Given the description of an element on the screen output the (x, y) to click on. 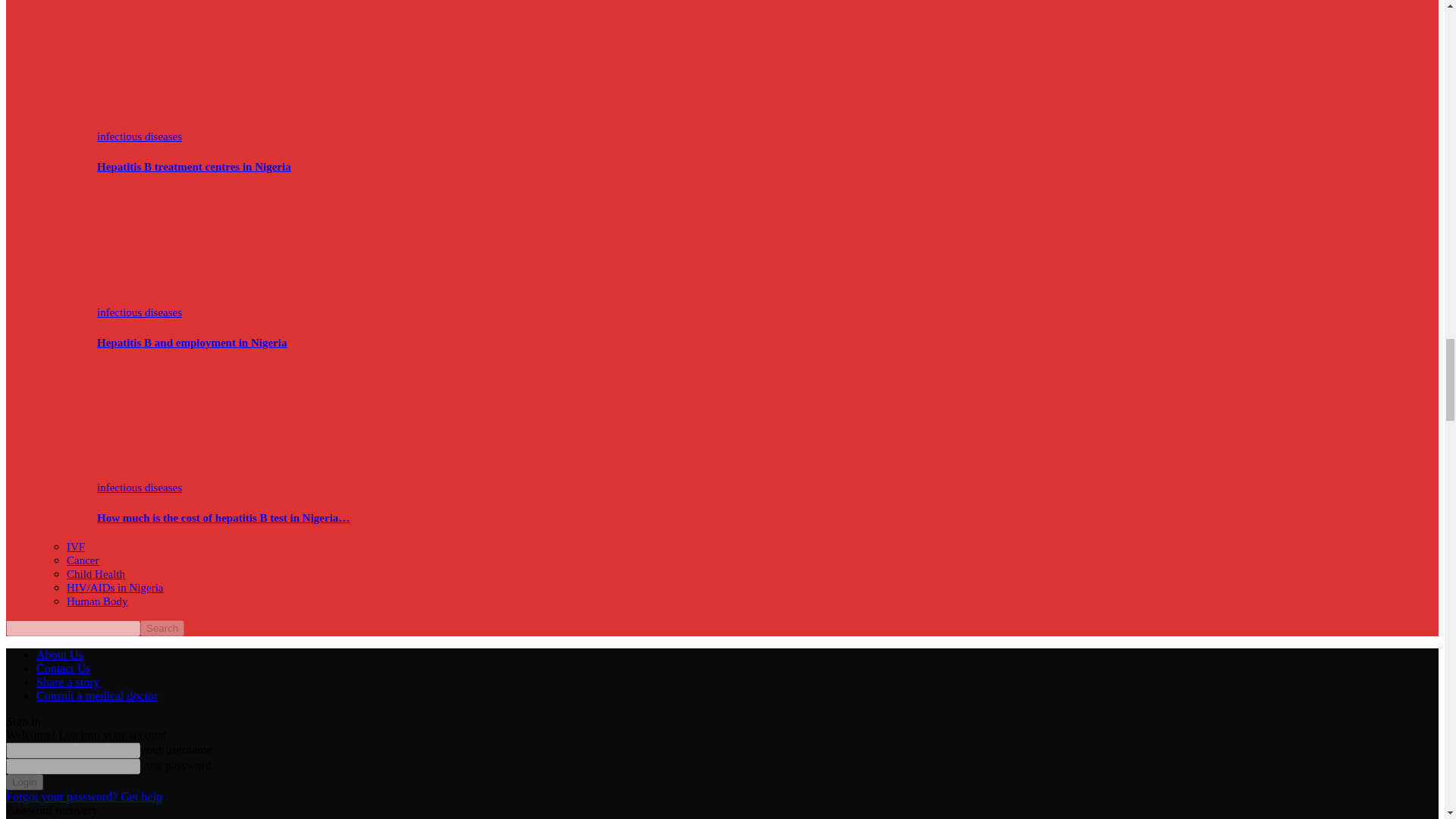
Login (24, 781)
Search (161, 627)
